Given the description of an element on the screen output the (x, y) to click on. 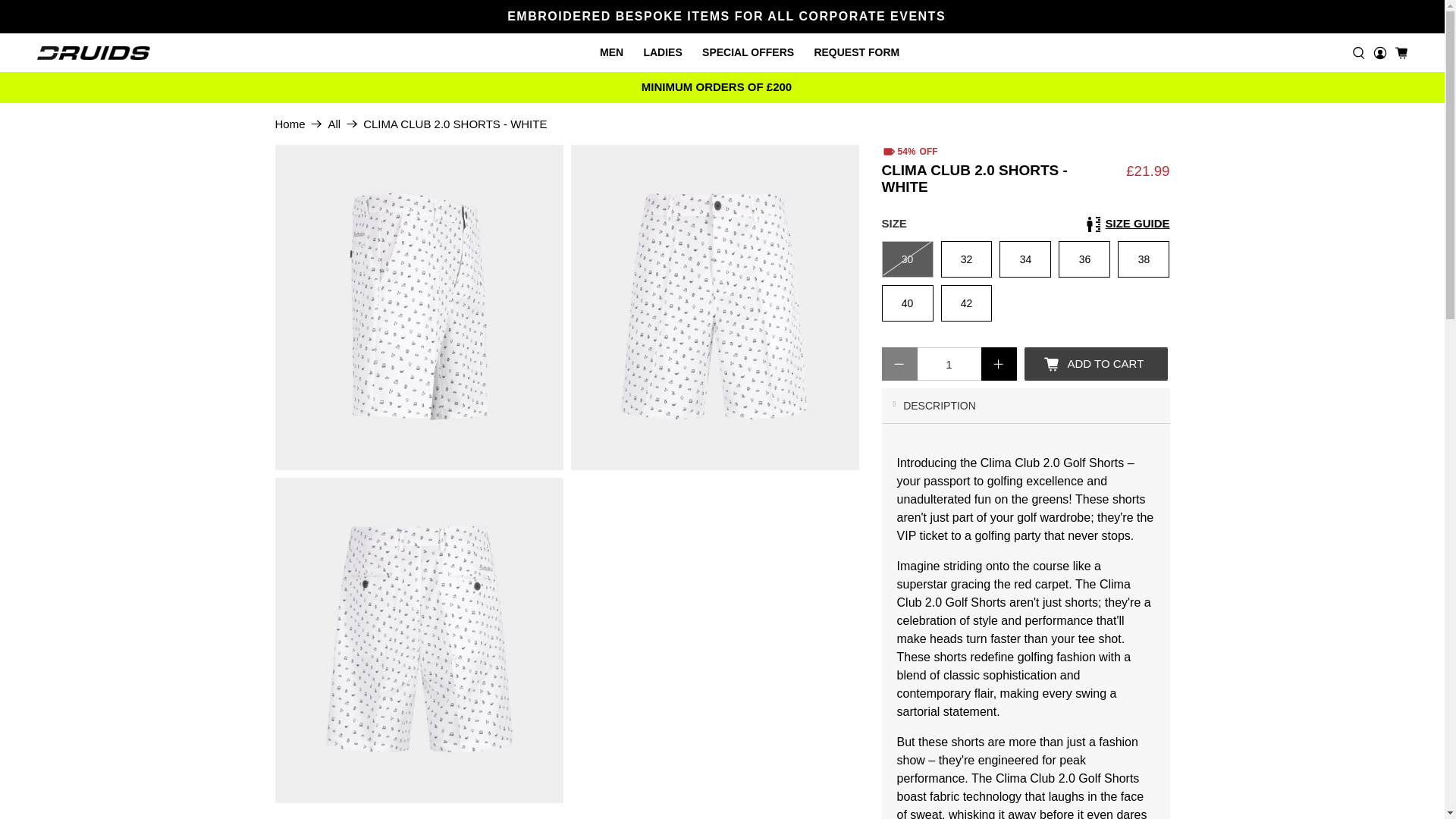
LADIES (664, 52)
MEN (612, 52)
1 (949, 363)
SPECIAL OFFERS (749, 52)
DRUIDS CORPORATE (92, 51)
DRUIDS CORPORATE (289, 123)
REQUEST FORM (858, 52)
